Given the description of an element on the screen output the (x, y) to click on. 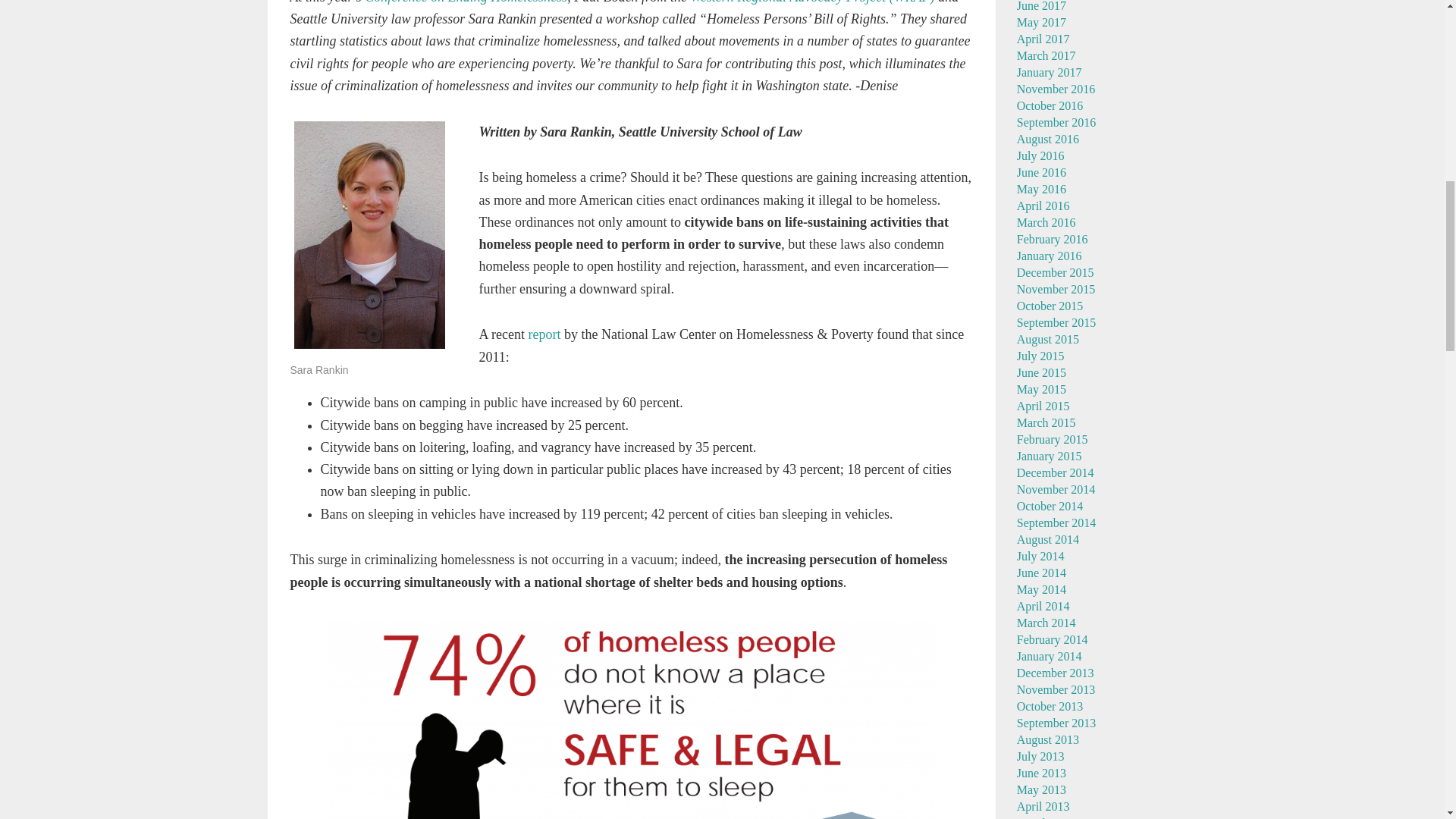
Conference on Ending Homelessness (466, 2)
report (543, 334)
WLIHA Conference on Ending Homelessness (466, 2)
